Given the description of an element on the screen output the (x, y) to click on. 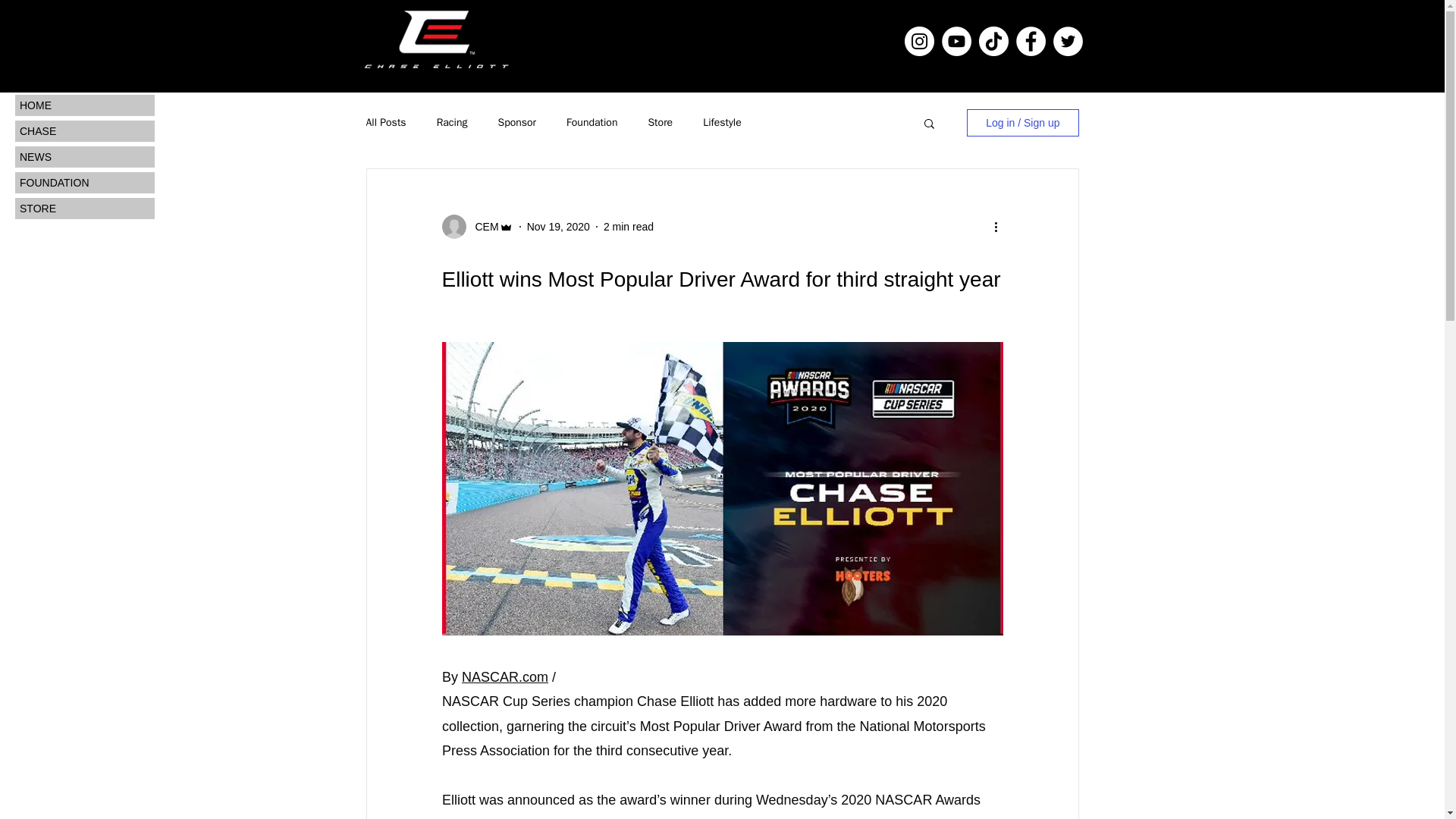
All Posts (385, 122)
Foundation (591, 122)
STORE (84, 208)
Nov 19, 2020 (558, 225)
2 min read (628, 225)
NASCAR.com (504, 676)
Racing (451, 122)
FOUNDATION (84, 182)
CEM (481, 226)
CHASE (84, 130)
